Given the description of an element on the screen output the (x, y) to click on. 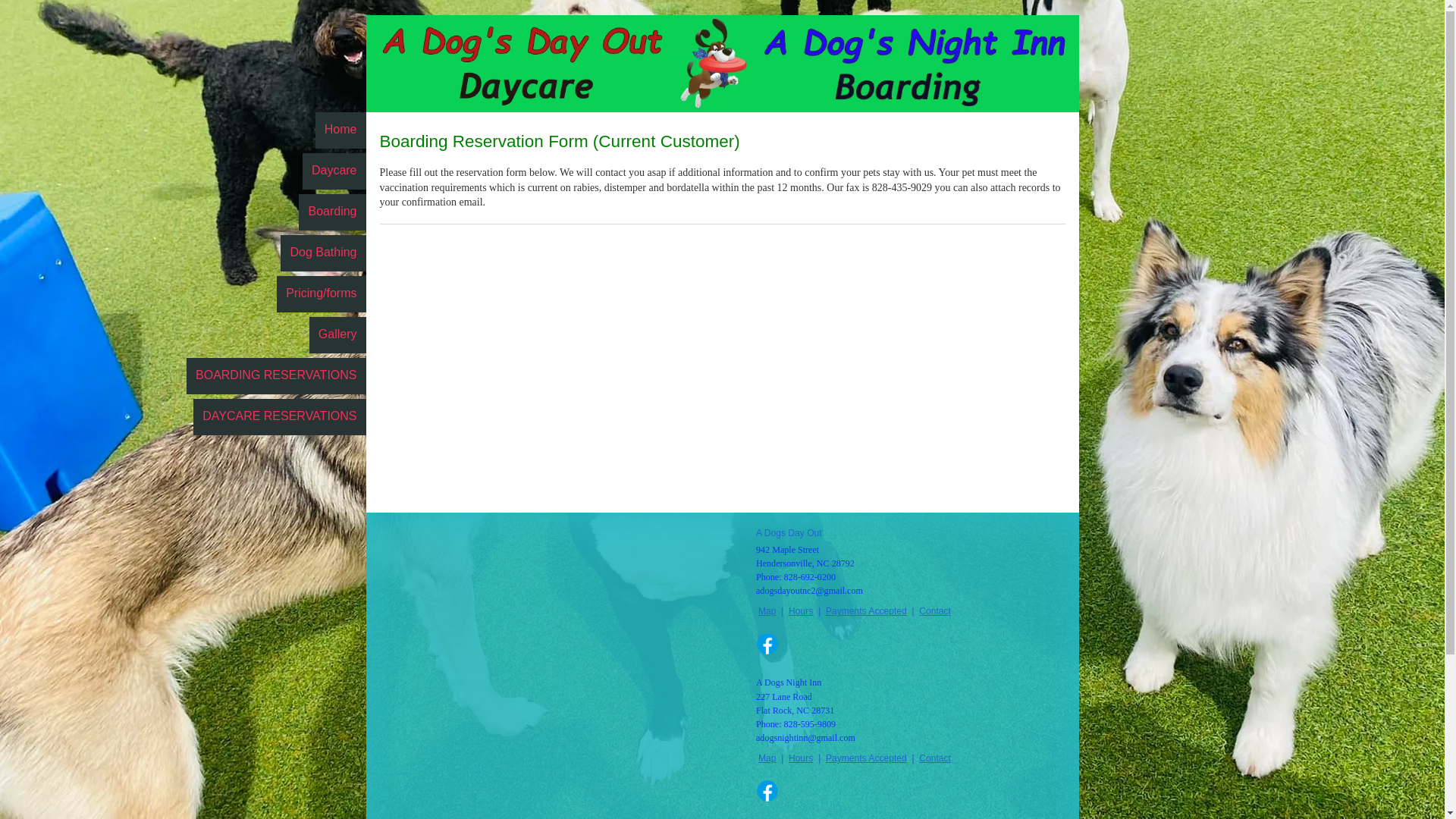
Dog Bathing (323, 253)
Hours (800, 758)
Contact (935, 758)
BOARDING RESERVATIONS (275, 375)
Gallery (337, 334)
Home (340, 130)
Daycare (334, 171)
Payments Accepted (866, 611)
Map (766, 611)
828-595-9809 (809, 724)
Map (766, 758)
Hours (800, 611)
DAYCARE RESERVATIONS (279, 416)
Payments Accepted (866, 758)
Contact (935, 611)
